Given the description of an element on the screen output the (x, y) to click on. 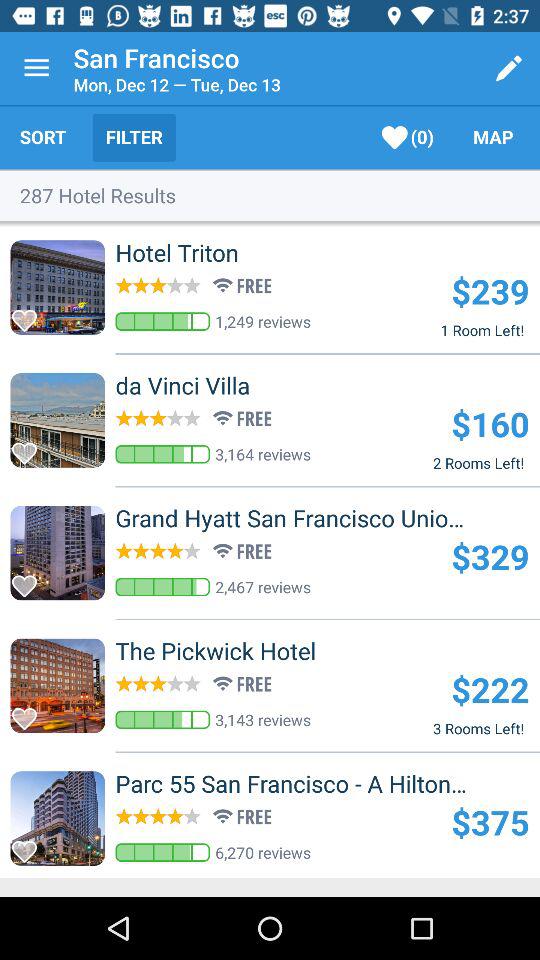
launch the 1 room left! icon (482, 330)
